Given the description of an element on the screen output the (x, y) to click on. 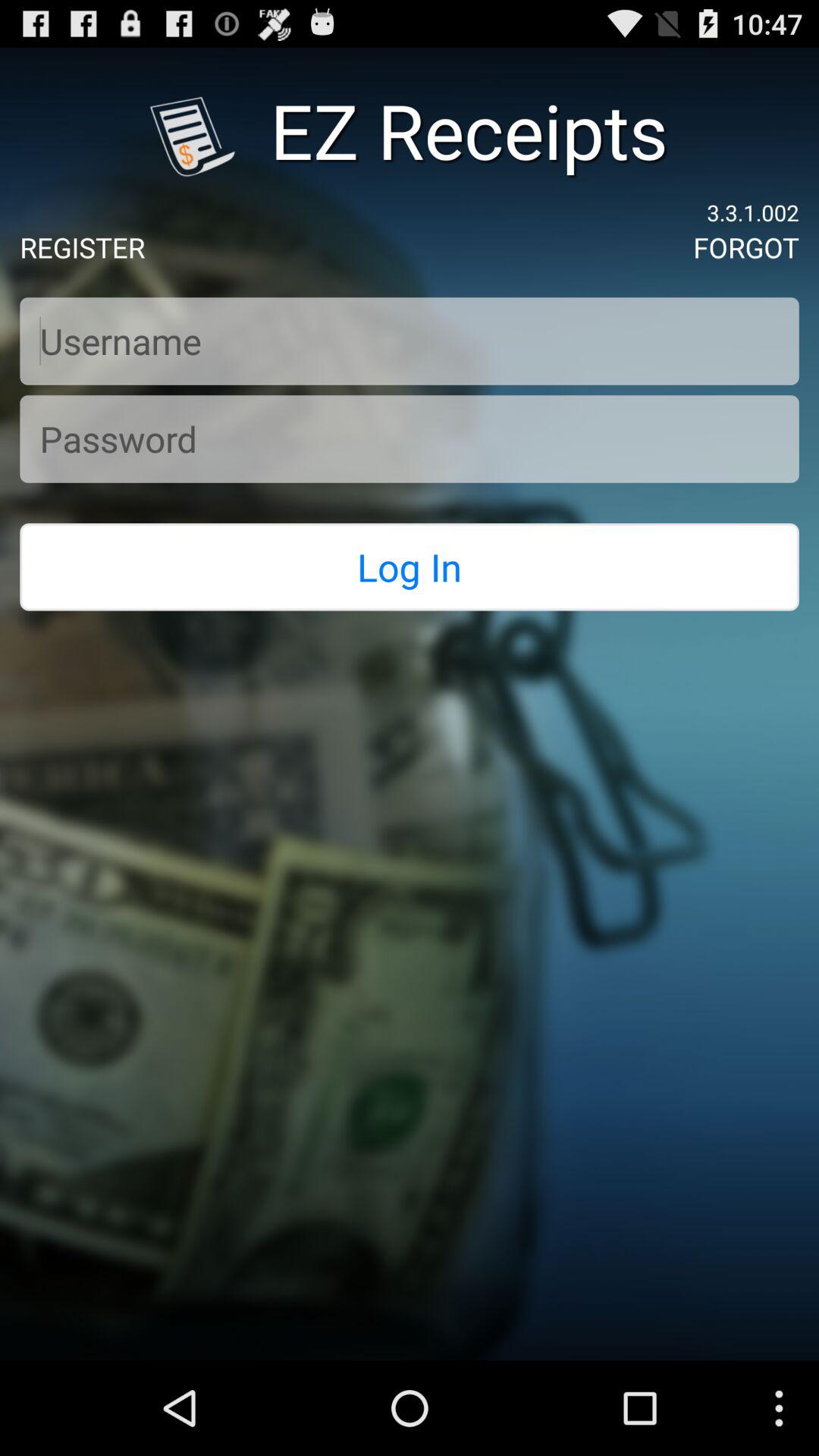
textbox to fill password (409, 438)
